Given the description of an element on the screen output the (x, y) to click on. 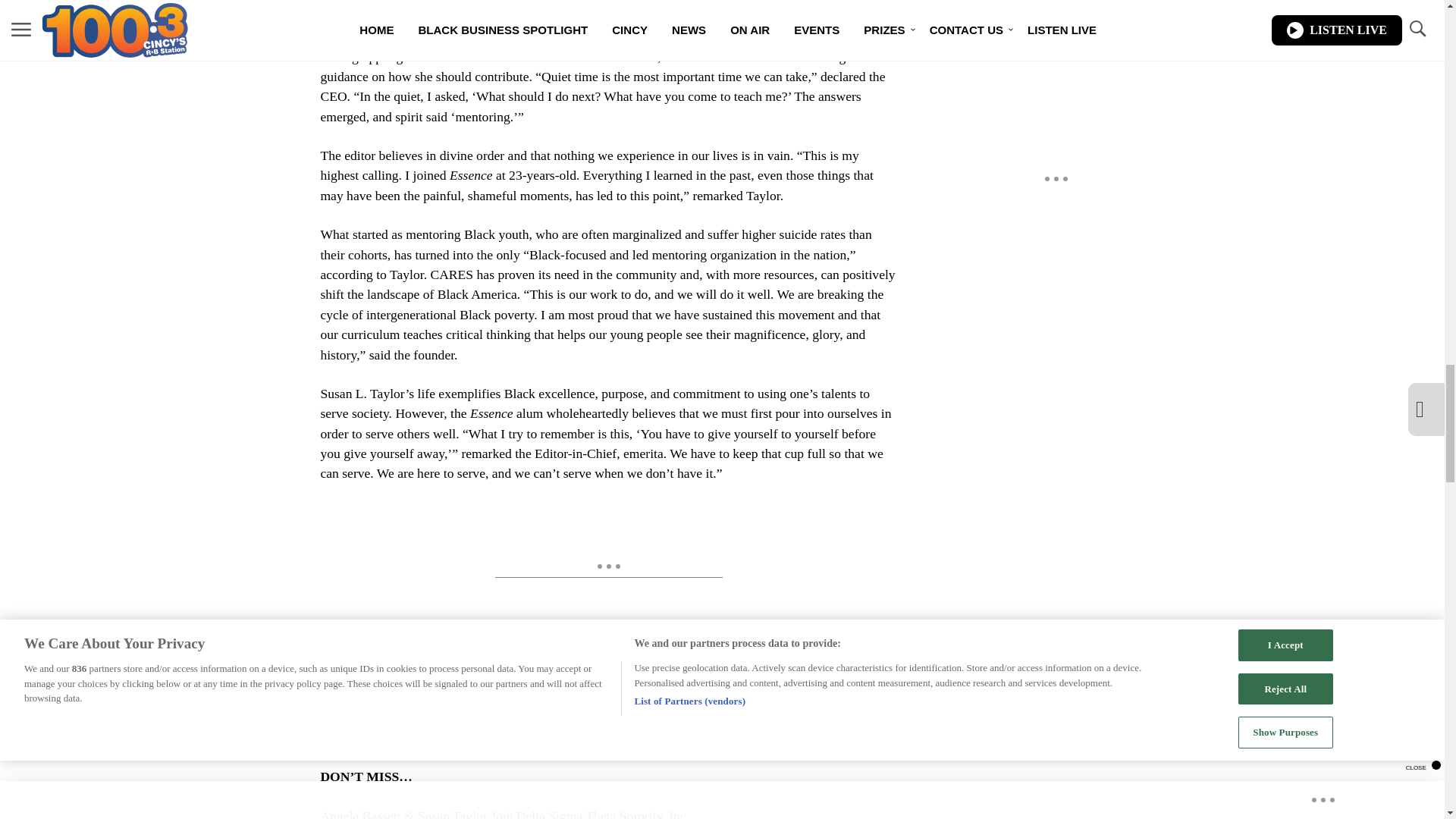
here (363, 737)
Sherri Shepard (686, 678)
